Given the description of an element on the screen output the (x, y) to click on. 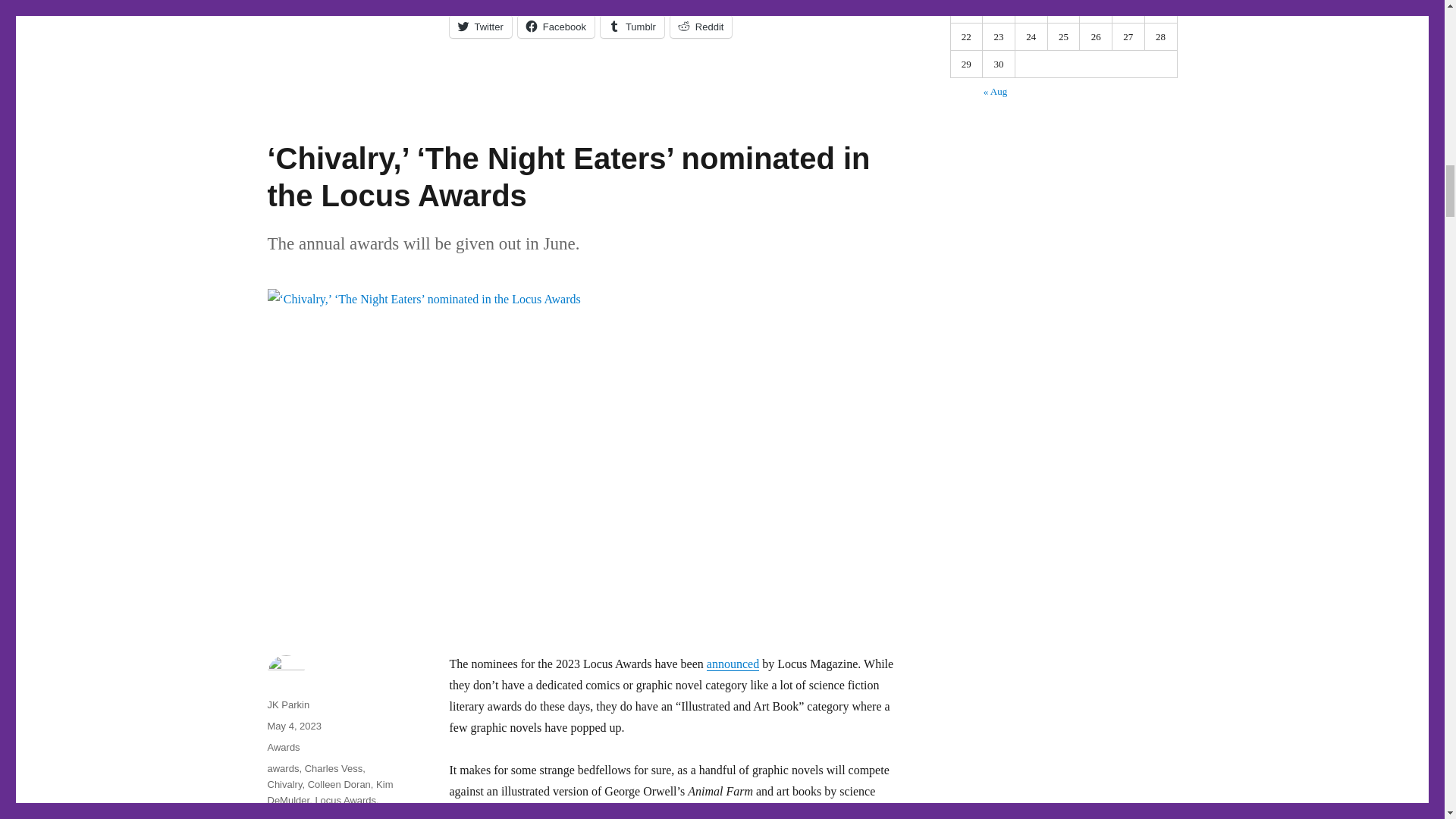
Click to share on Reddit (700, 26)
Click to share on Facebook (556, 26)
Click to share on Tumblr (631, 26)
Click to share on Twitter (479, 26)
